Given the description of an element on the screen output the (x, y) to click on. 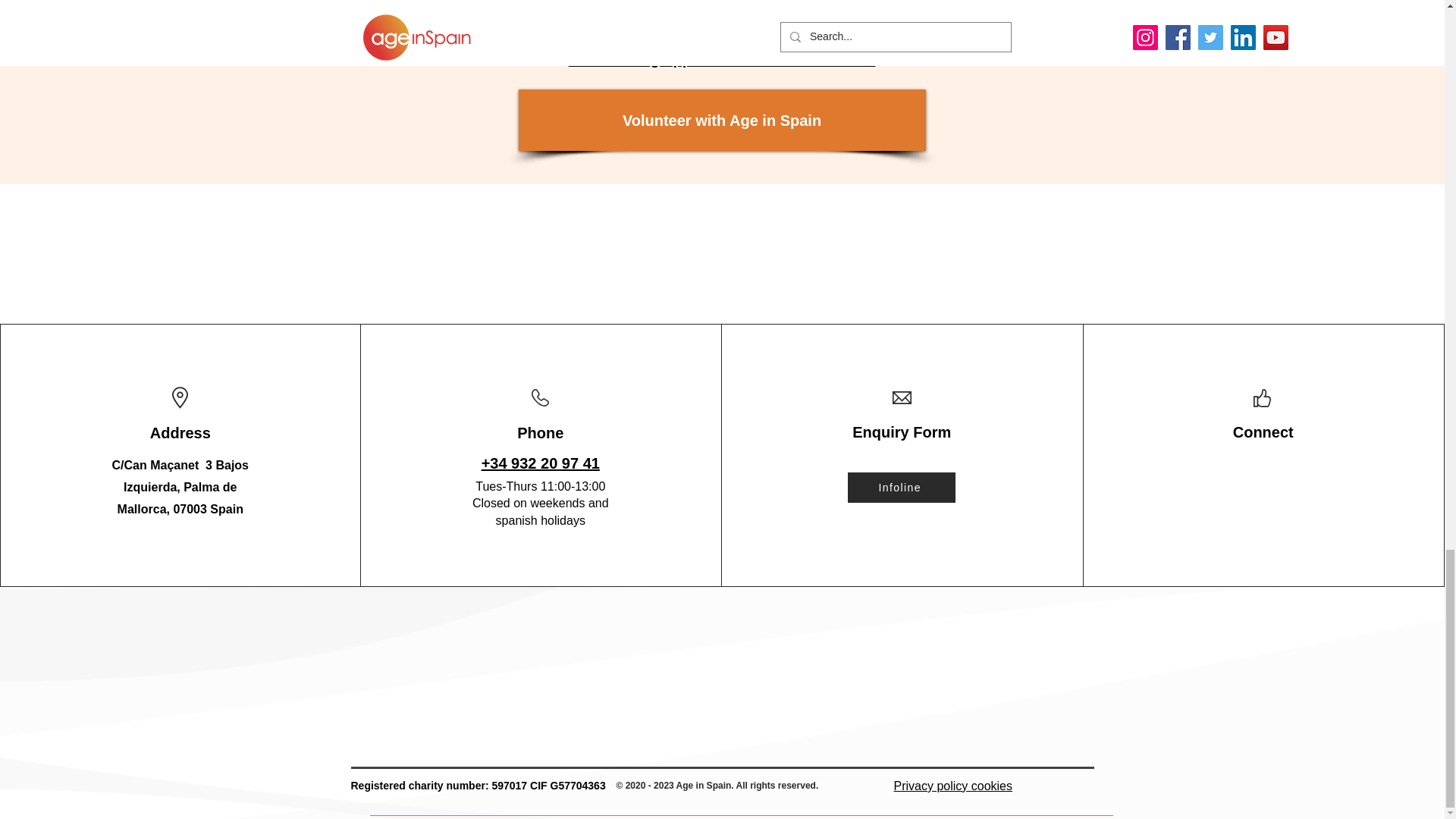
Volunteer with Age in Spain (722, 119)
Privacy policy c (934, 785)
ookies (993, 785)
Infoline (901, 487)
